Given the description of an element on the screen output the (x, y) to click on. 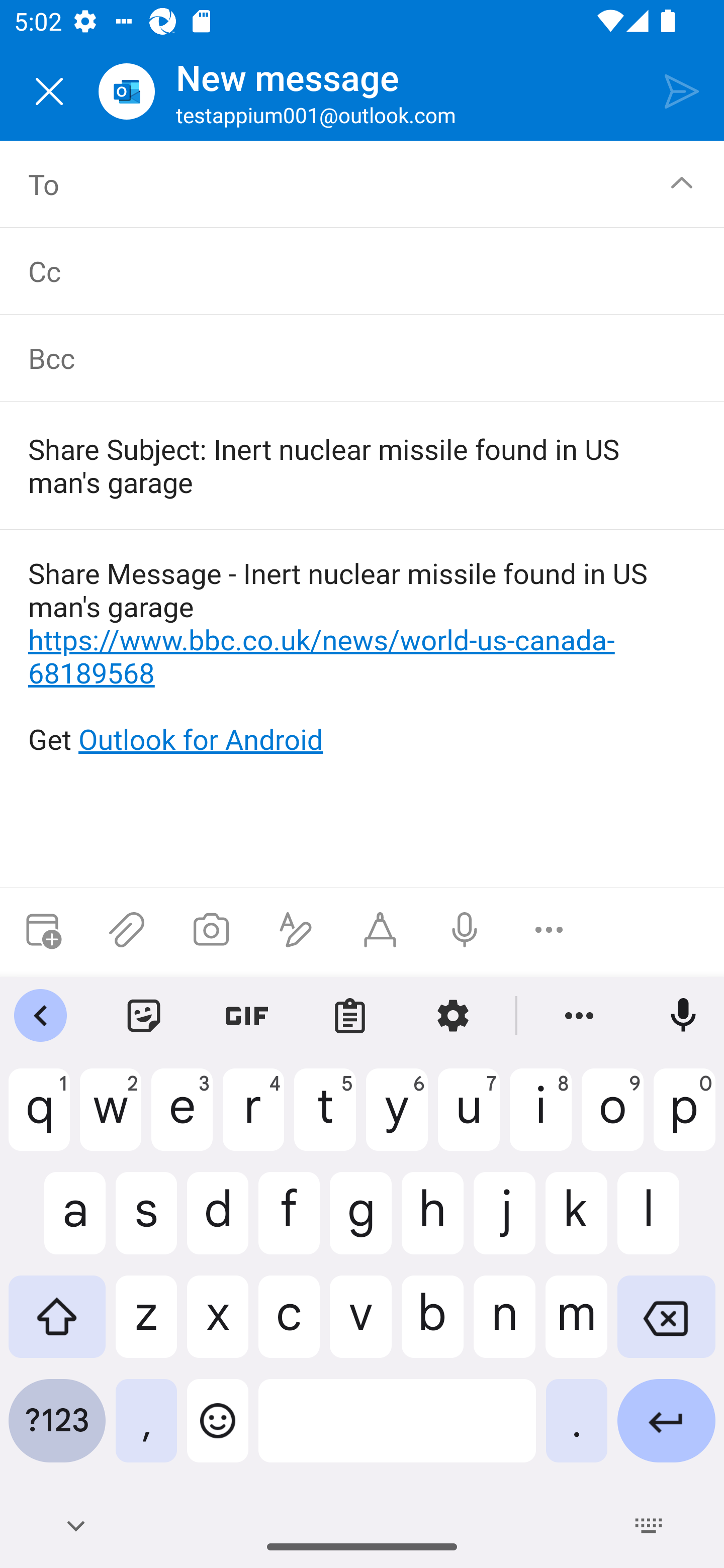
Close (49, 91)
Send (681, 90)
Attach meeting (42, 929)
Attach files (126, 929)
Take a photo (210, 929)
Show formatting options (295, 929)
Start Ink compose (380, 929)
Dictation (464, 929)
More options (548, 929)
